Given the description of an element on the screen output the (x, y) to click on. 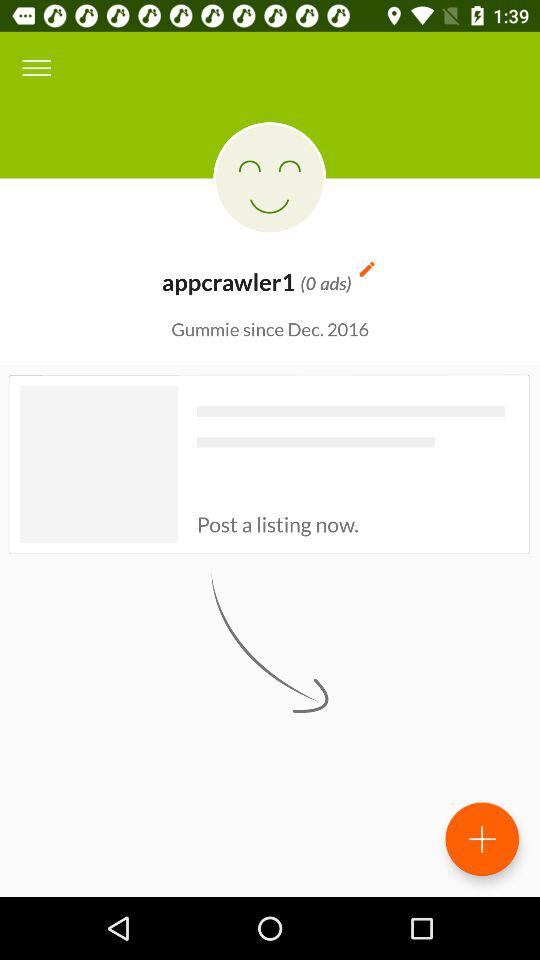
click item at the top right corner (366, 268)
